Given the description of an element on the screen output the (x, y) to click on. 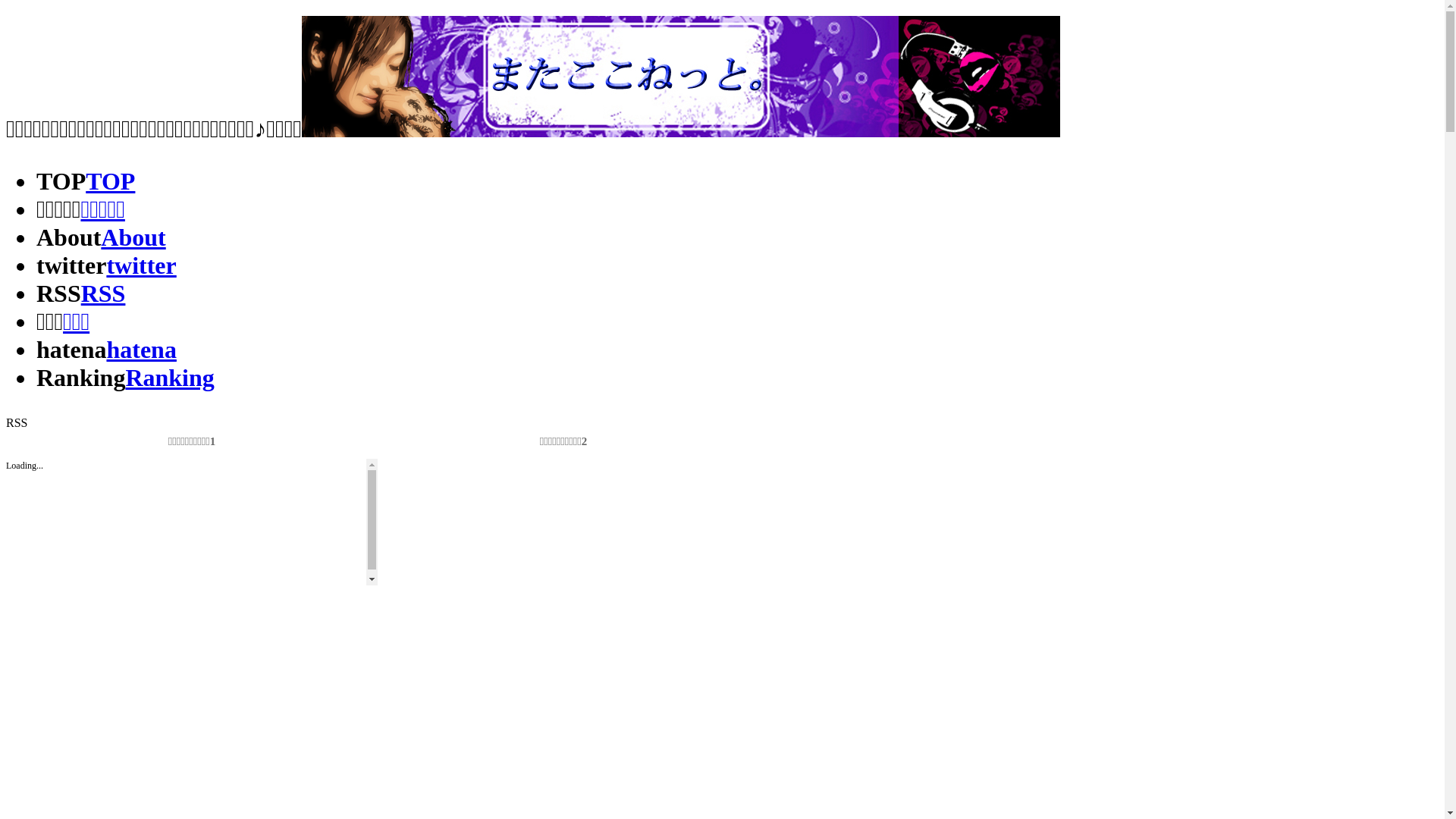
About Element type: text (132, 237)
RSS Element type: text (103, 293)
hatena Element type: text (140, 349)
Ranking Element type: text (169, 377)
twitter Element type: text (140, 265)
TOP Element type: text (109, 180)
